Given the description of an element on the screen output the (x, y) to click on. 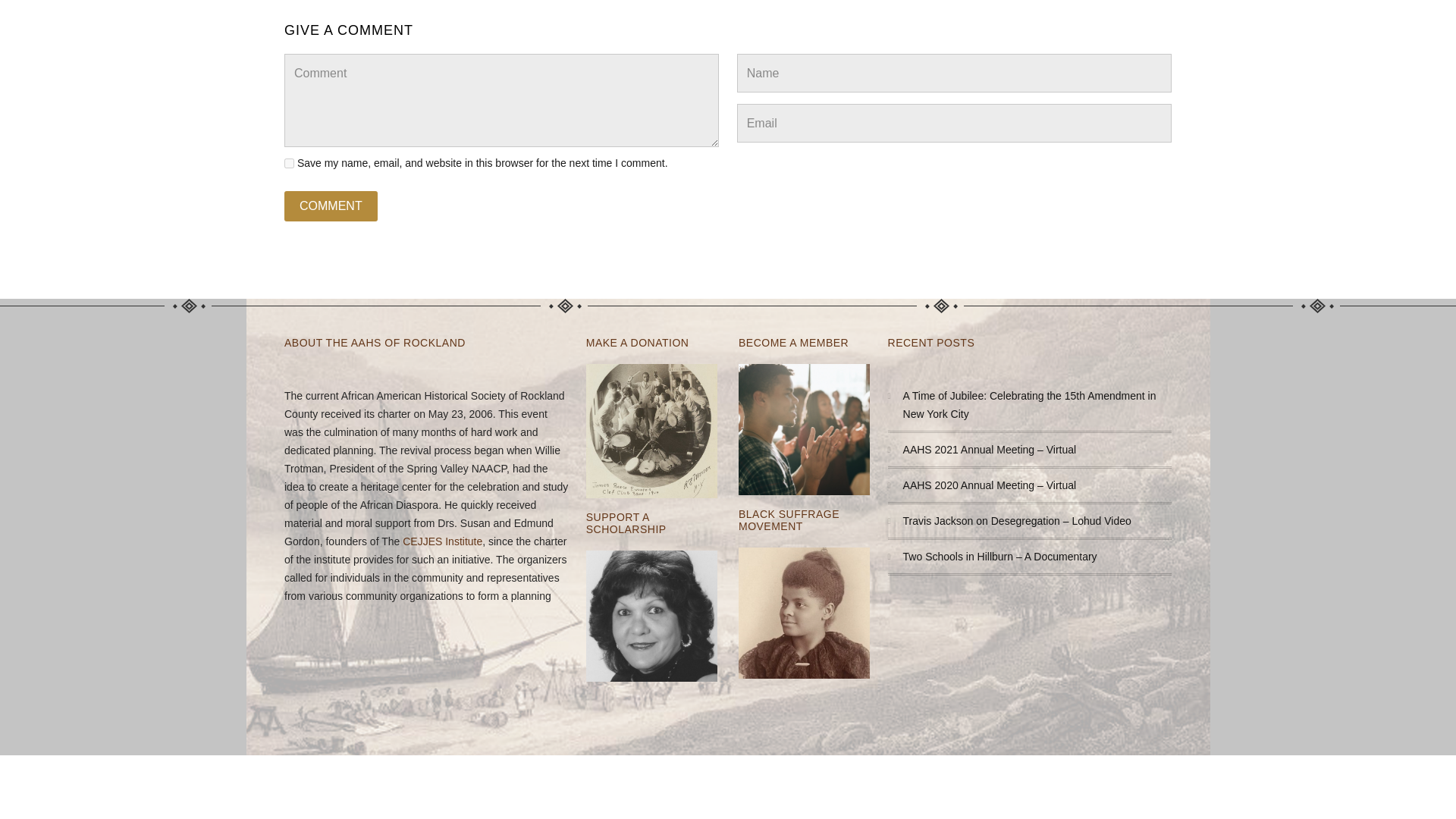
Comment (330, 205)
